Given the description of an element on the screen output the (x, y) to click on. 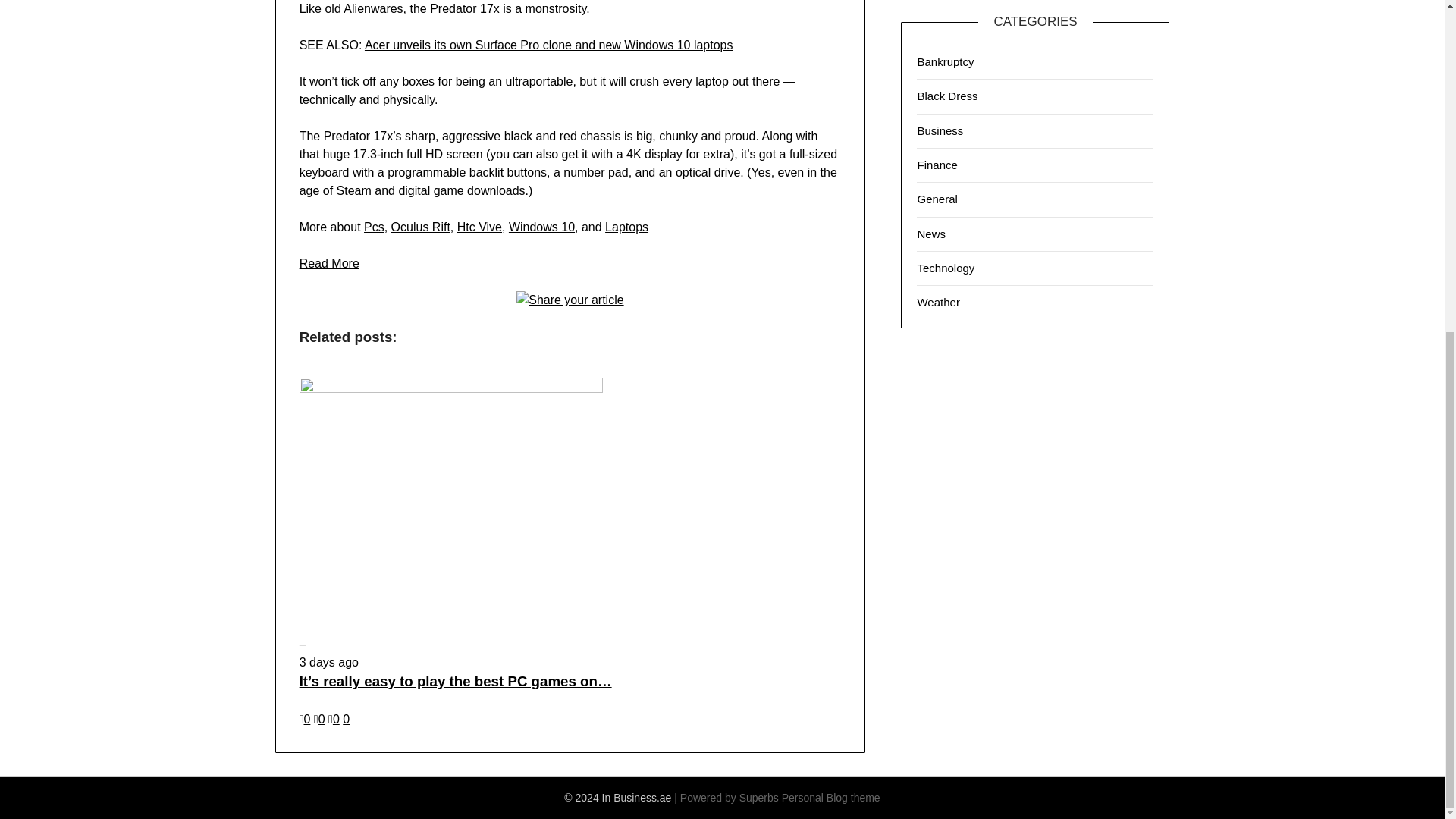
Read More (329, 263)
Pcs (374, 226)
Oculus Rift (420, 226)
Htc Vive (479, 226)
Windows 10 (541, 226)
Laptops (626, 226)
